Given the description of an element on the screen output the (x, y) to click on. 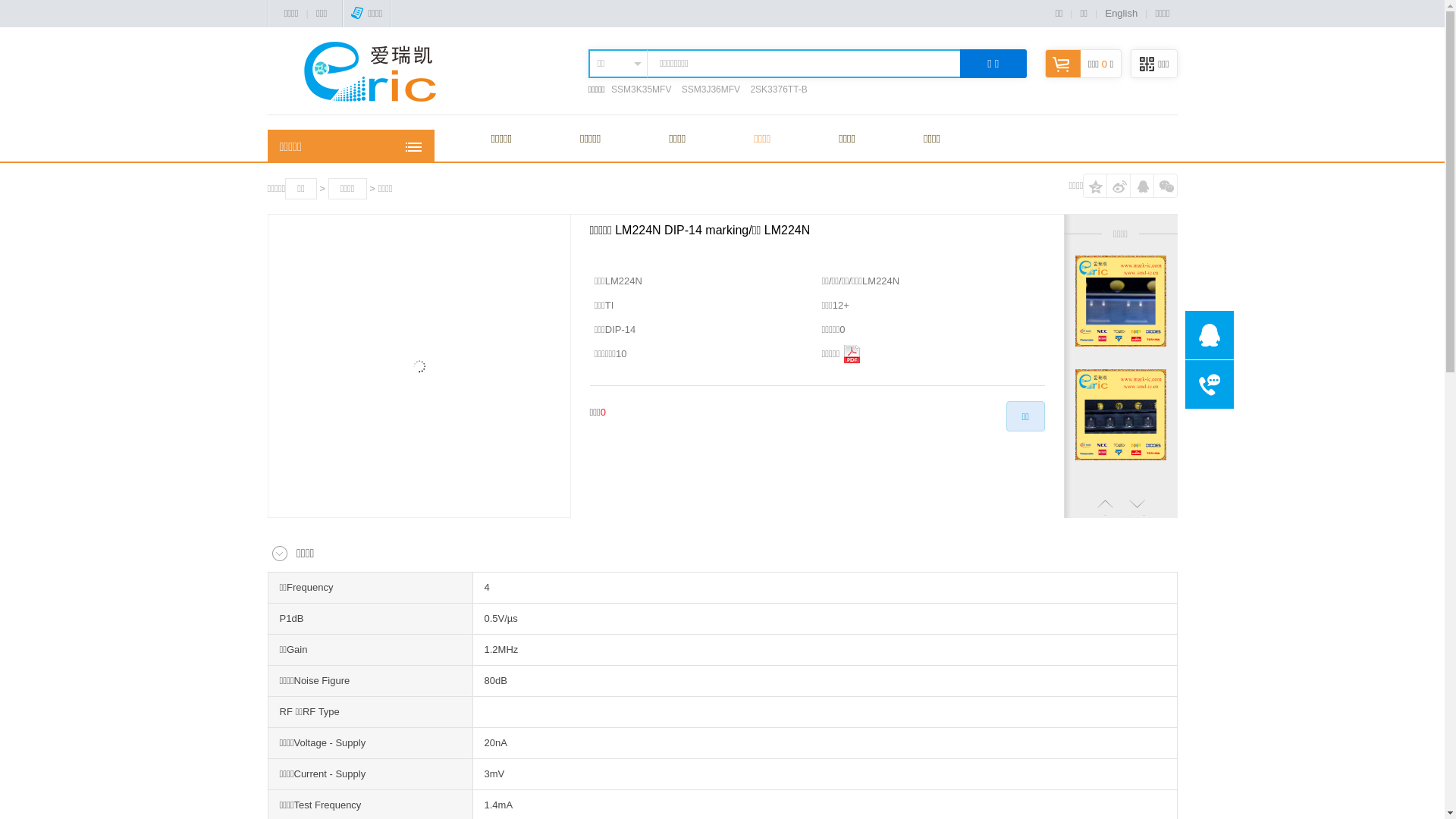
English Element type: text (1120, 12)
SSM3K35MFV Element type: text (641, 89)
SSM3J36MFV Element type: text (710, 89)
2SK3376TT-B Element type: text (777, 89)
